Given the description of an element on the screen output the (x, y) to click on. 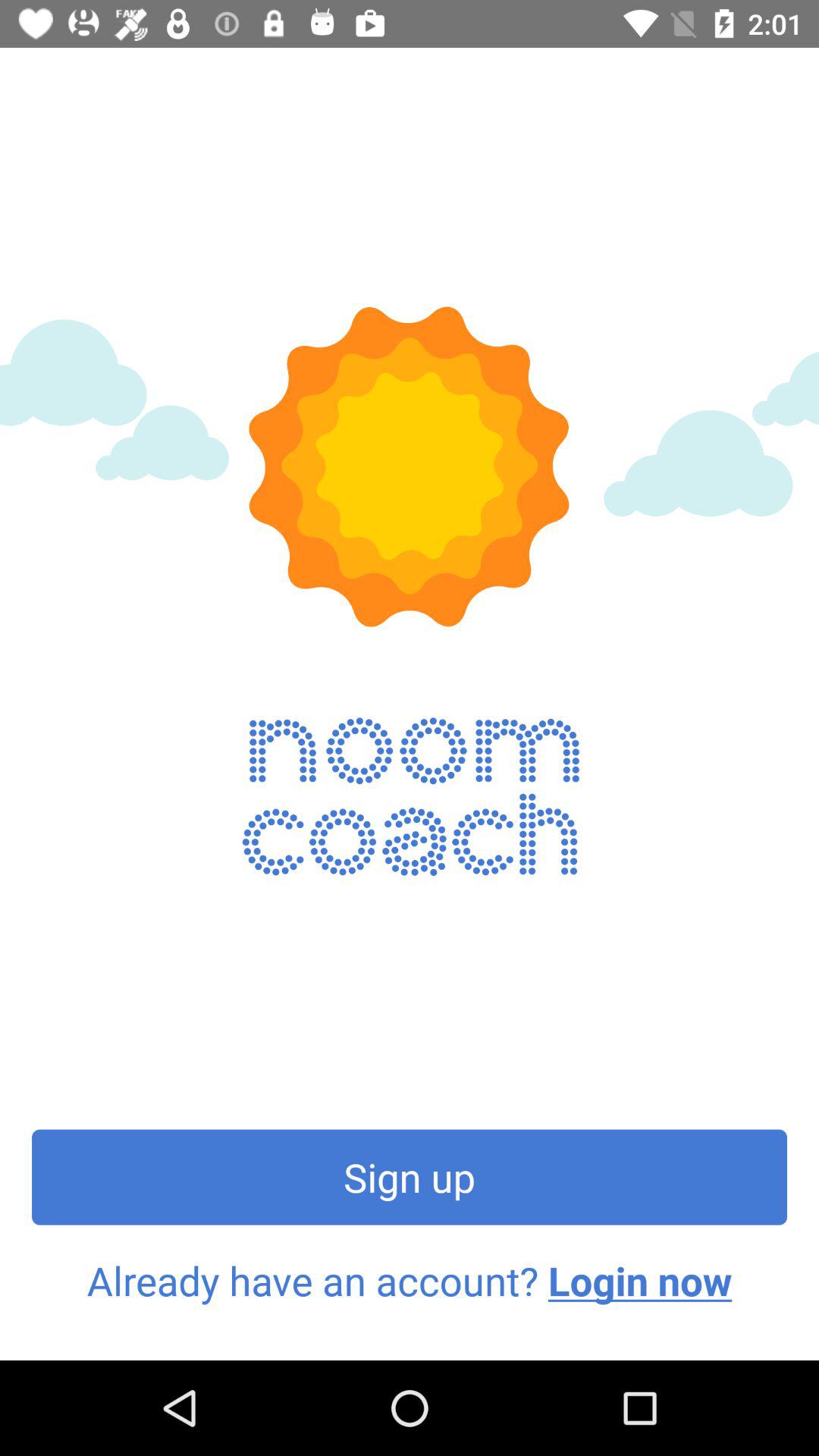
click the icon below the sign up (409, 1280)
